Given the description of an element on the screen output the (x, y) to click on. 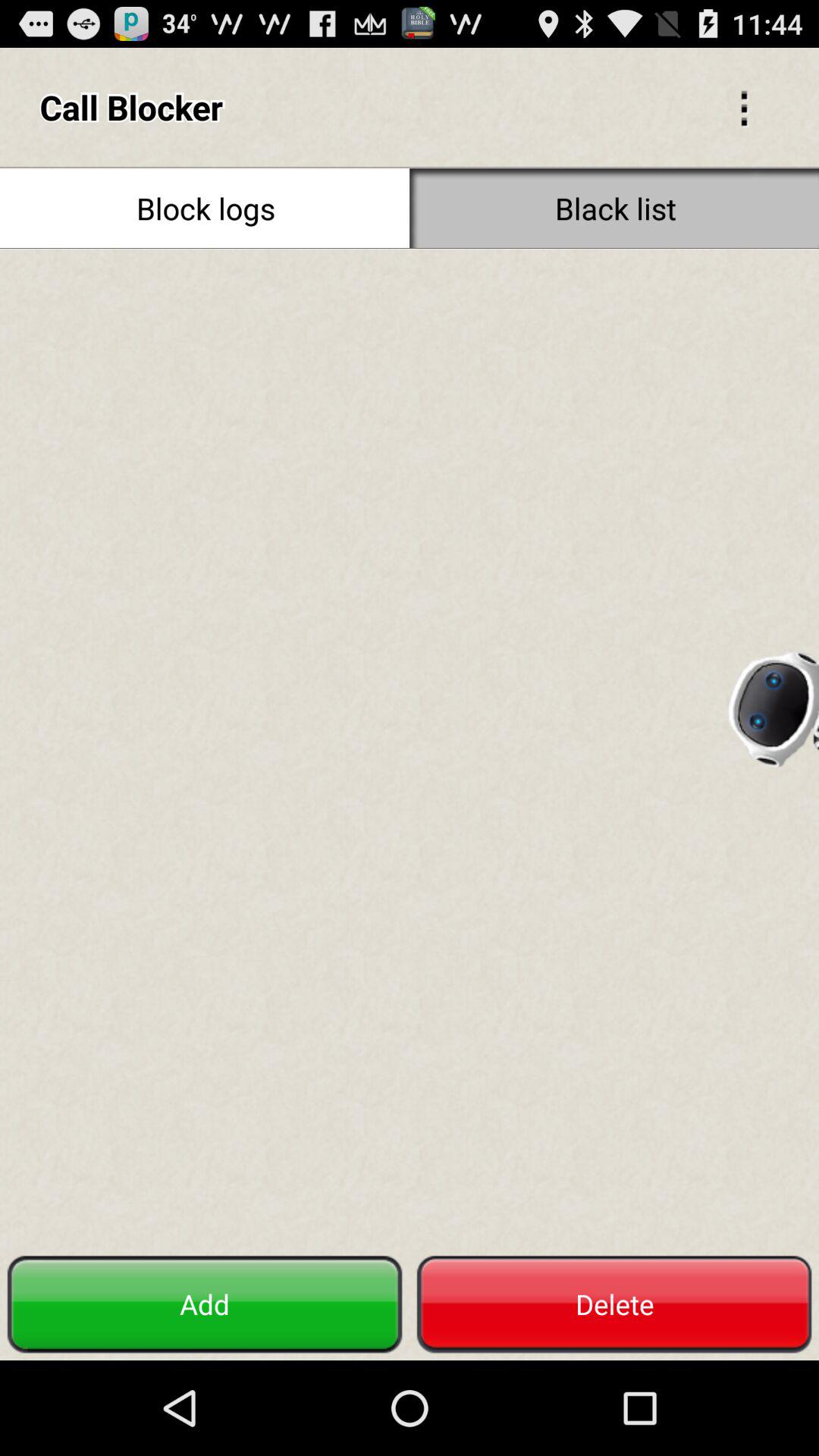
choose icon at the bottom right corner (613, 1304)
